Given the description of an element on the screen output the (x, y) to click on. 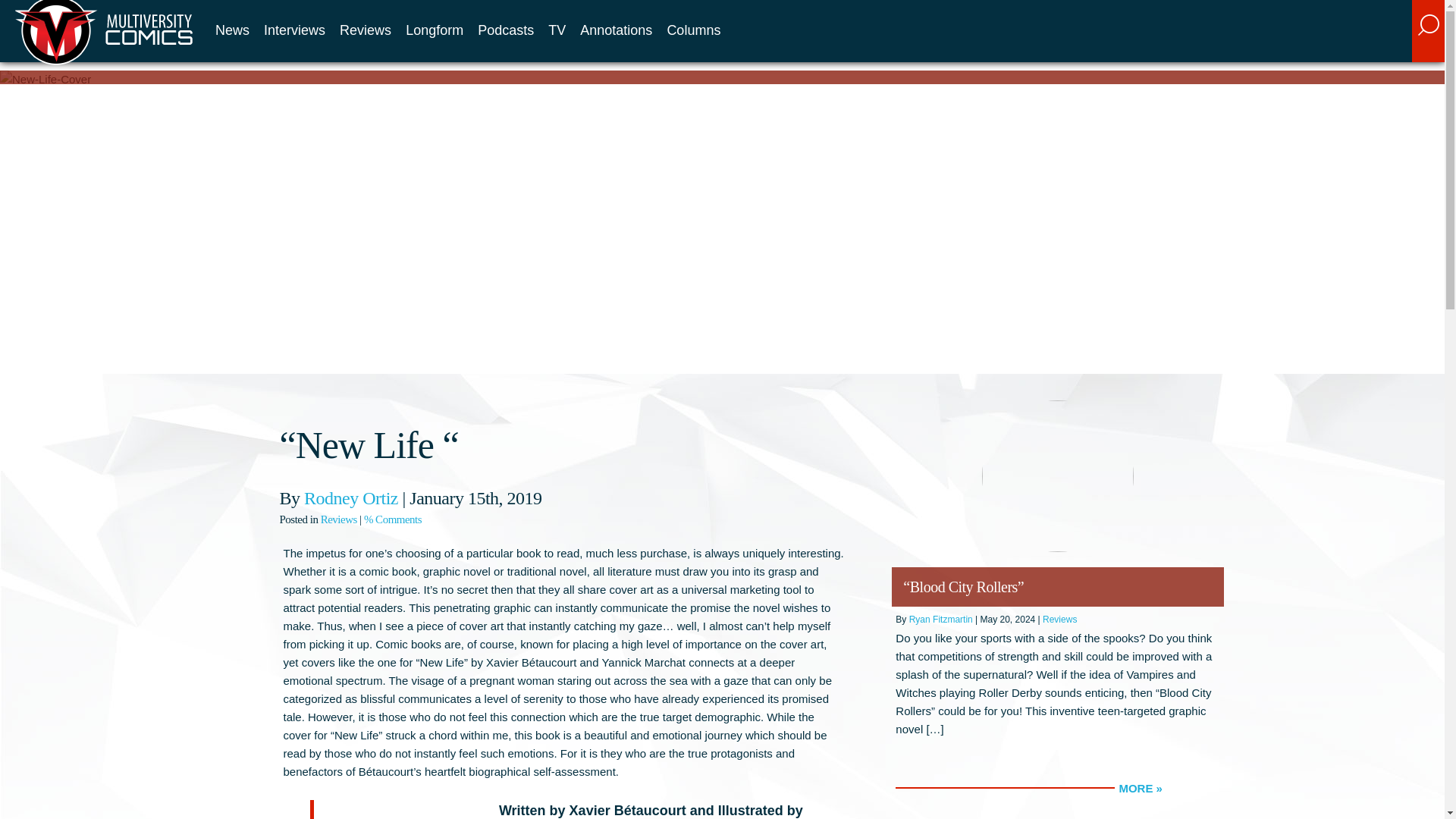
Columns (693, 29)
Search (1323, 43)
Podcasts (505, 29)
News (231, 29)
Longform (434, 29)
Interviews (293, 29)
Ryan Fitzmartin (940, 619)
Posts by Rodney Ortiz (350, 497)
Cover by Yannick Marchat (403, 813)
Reviews (1059, 619)
